Given the description of an element on the screen output the (x, y) to click on. 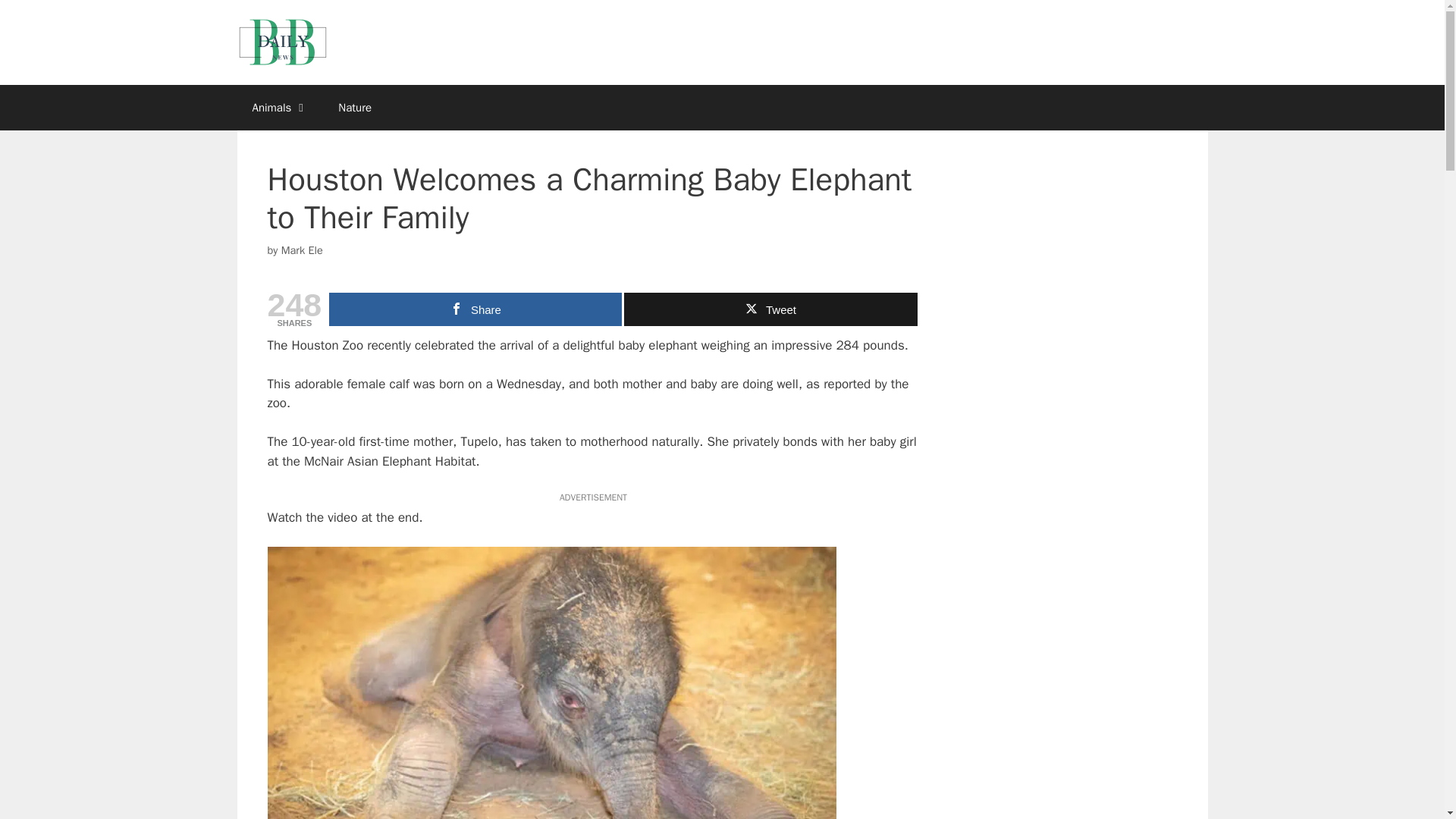
Mark Ele (302, 250)
View all posts by Mark Ele (302, 250)
Animals (279, 107)
Tweet (770, 308)
Share (475, 308)
Nature (355, 107)
